Given the description of an element on the screen output the (x, y) to click on. 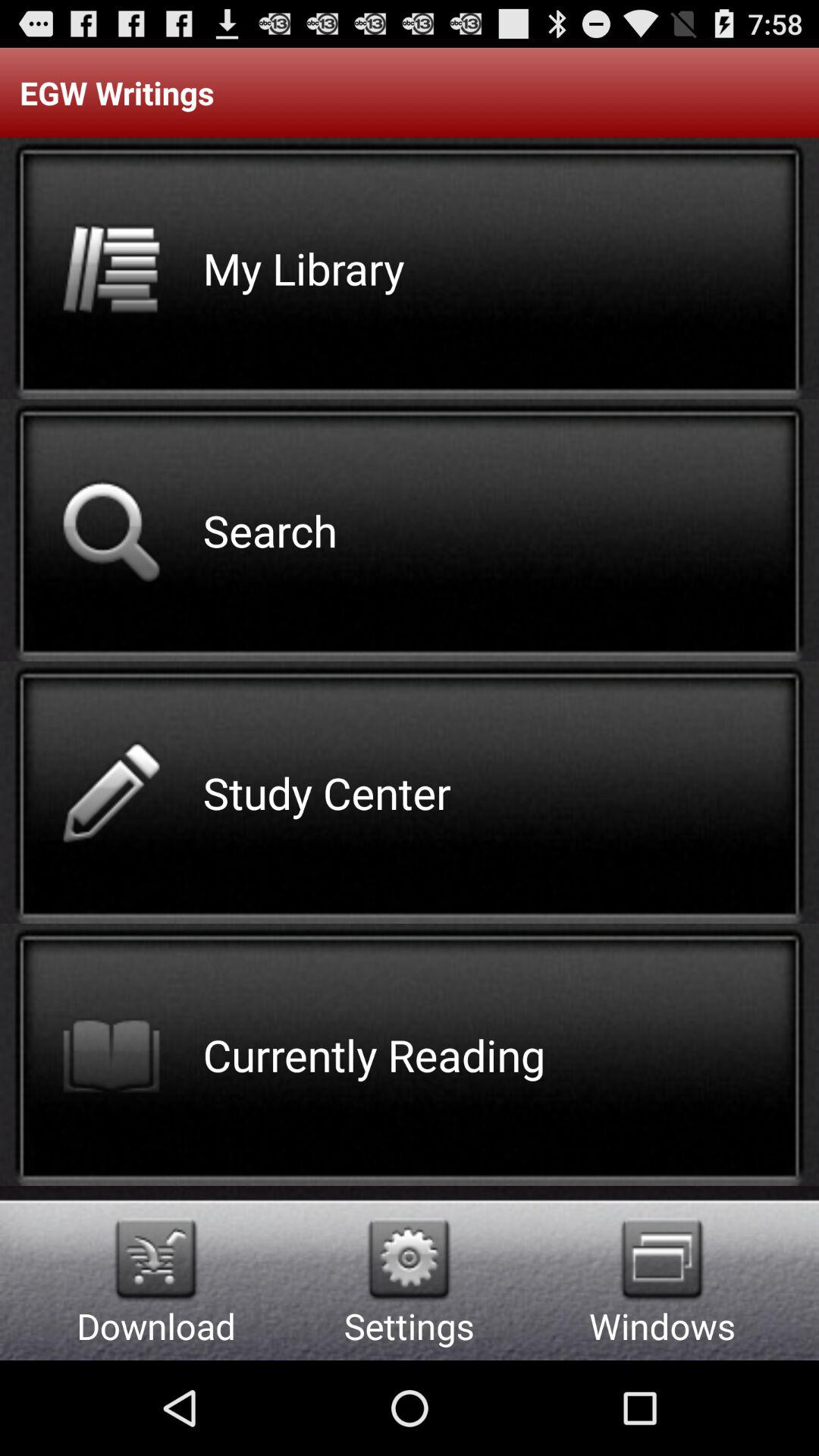
download writings (156, 1258)
